Given the description of an element on the screen output the (x, y) to click on. 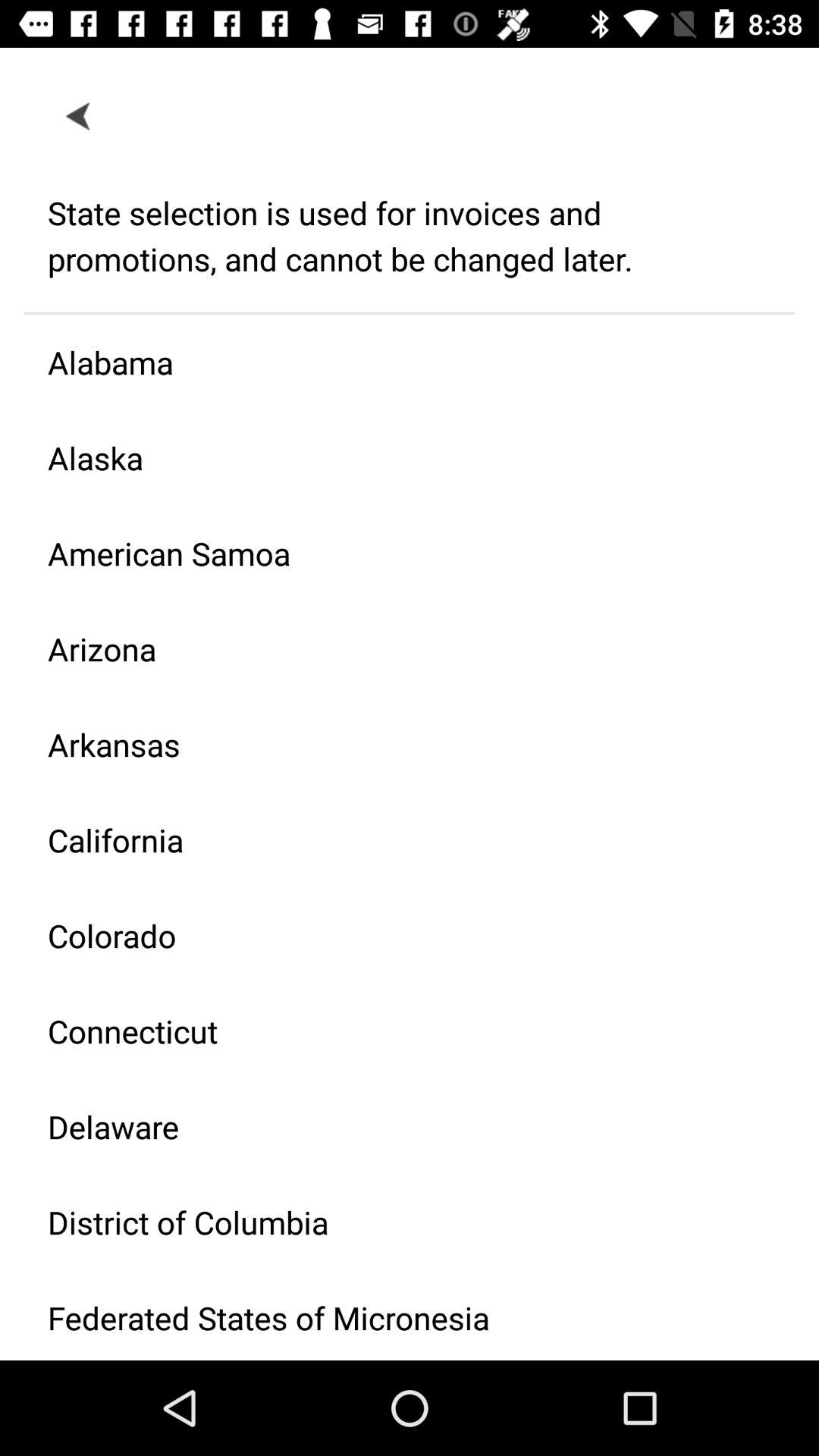
select the alabama icon (397, 361)
